Given the description of an element on the screen output the (x, y) to click on. 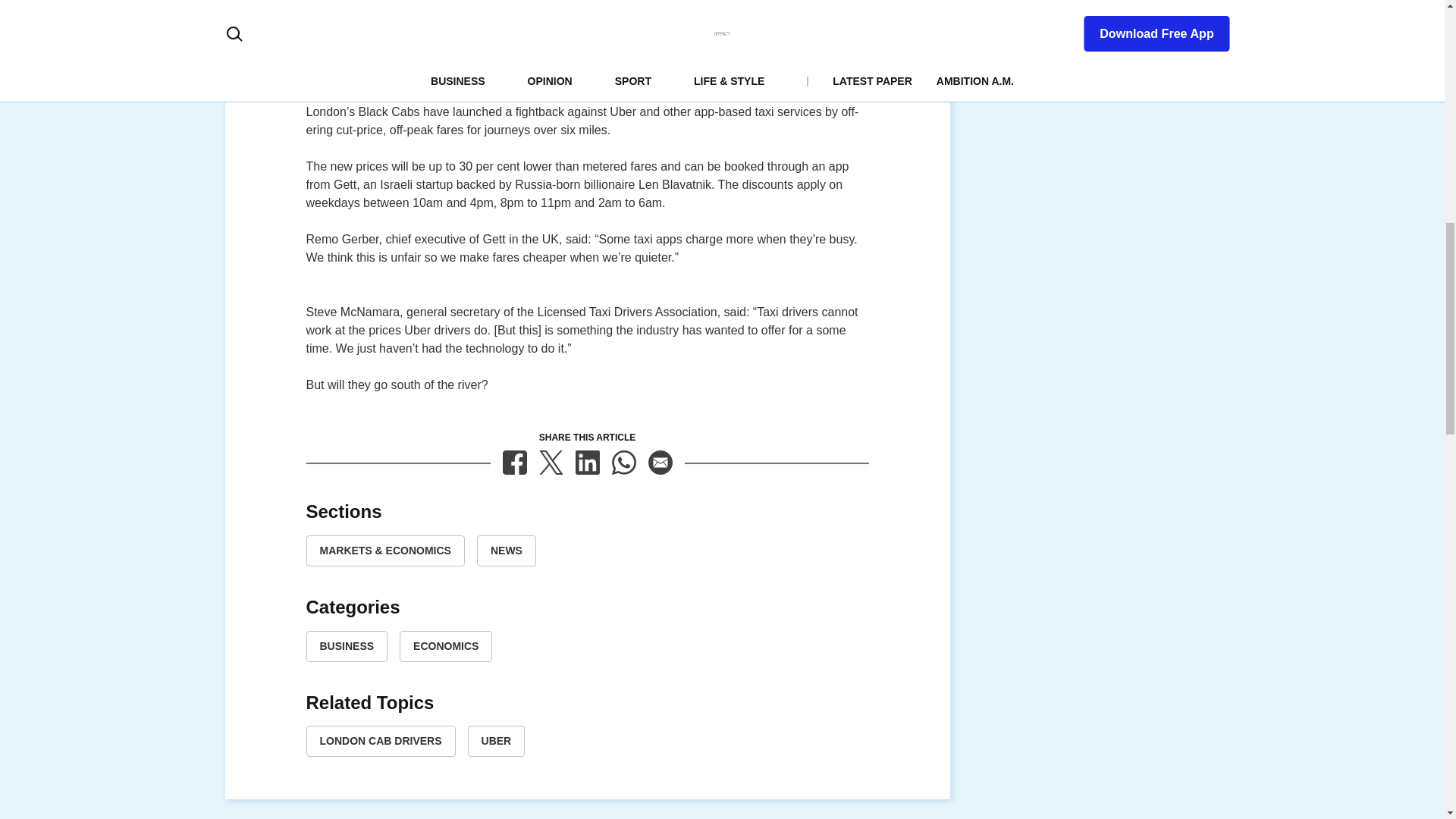
LinkedIn (586, 462)
X (550, 462)
WhatsApp (622, 462)
Email (659, 462)
Facebook (513, 462)
